Given the description of an element on the screen output the (x, y) to click on. 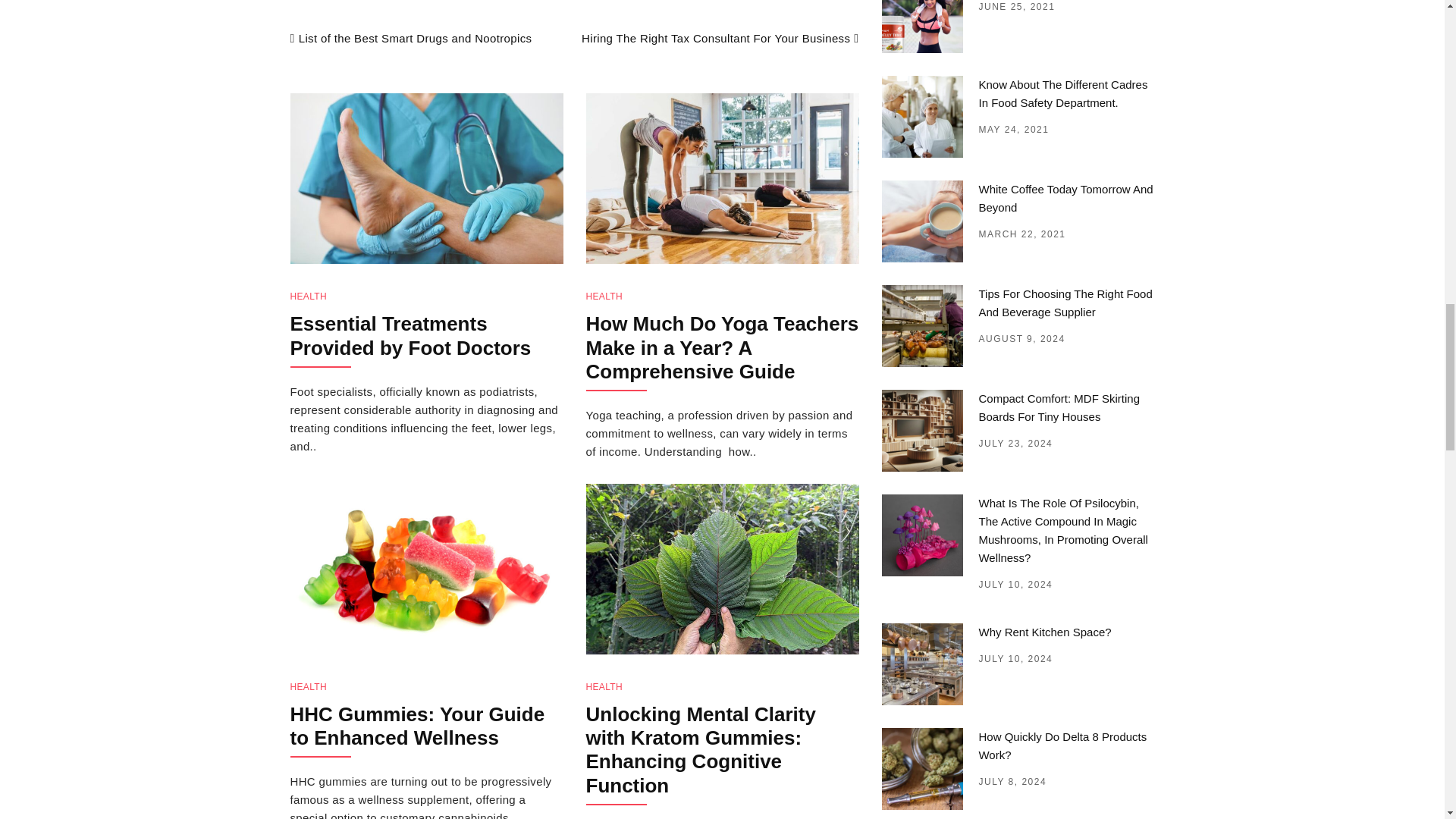
HEALTH (604, 296)
HEALTH (307, 296)
HEALTH (307, 686)
Essential Treatments Provided by Foot Doctors (410, 335)
Hiring The Right Tax Consultant For Your Business (719, 38)
List of the Best Smart Drugs and Nootropics (410, 38)
HEALTH (604, 686)
HHC Gummies: Your Guide to Enhanced Wellness (416, 725)
